Given the description of an element on the screen output the (x, y) to click on. 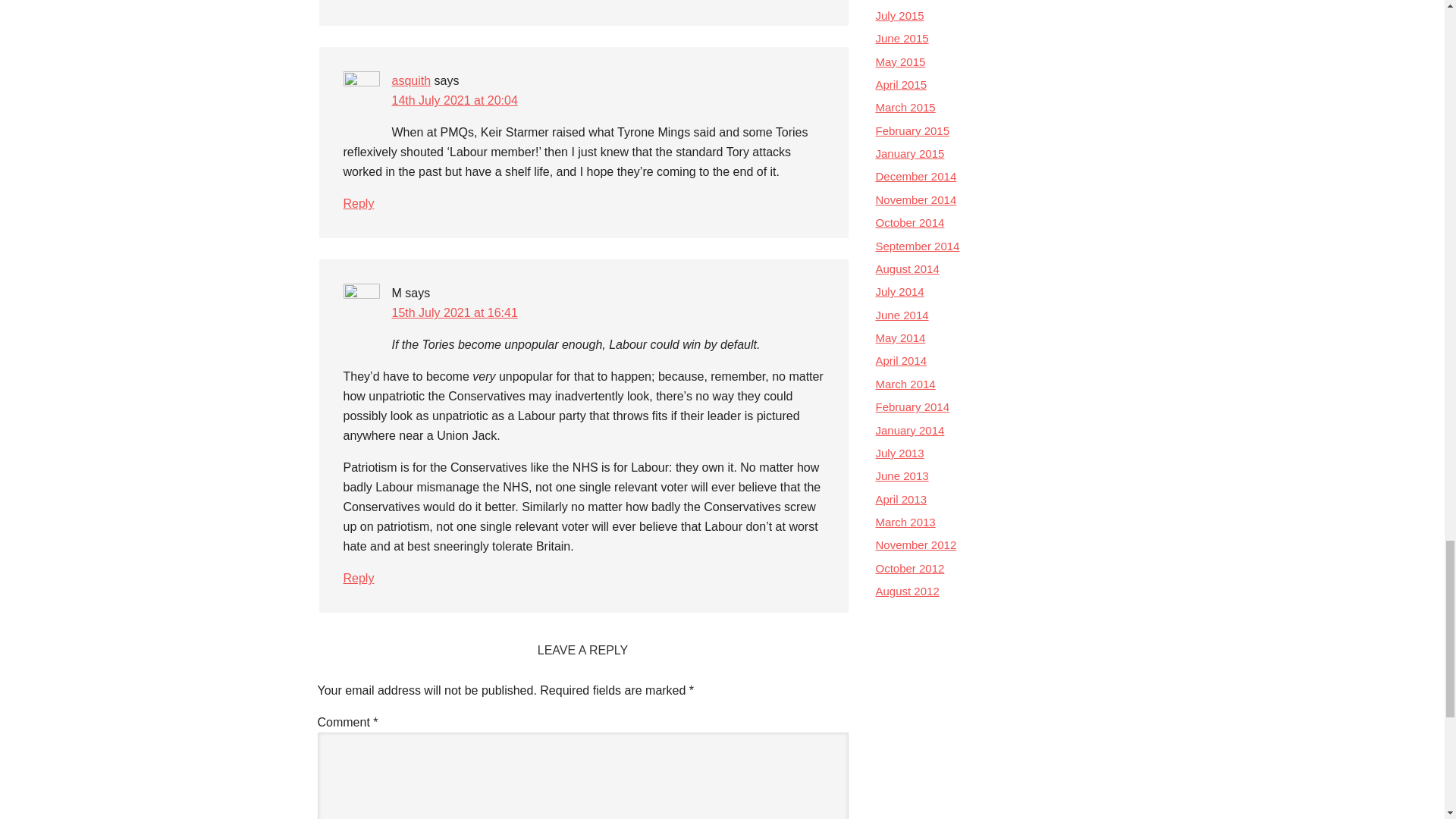
Reply (358, 203)
asquith (410, 80)
Reply (358, 577)
15th July 2021 at 16:41 (453, 312)
14th July 2021 at 20:04 (453, 100)
